Given the description of an element on the screen output the (x, y) to click on. 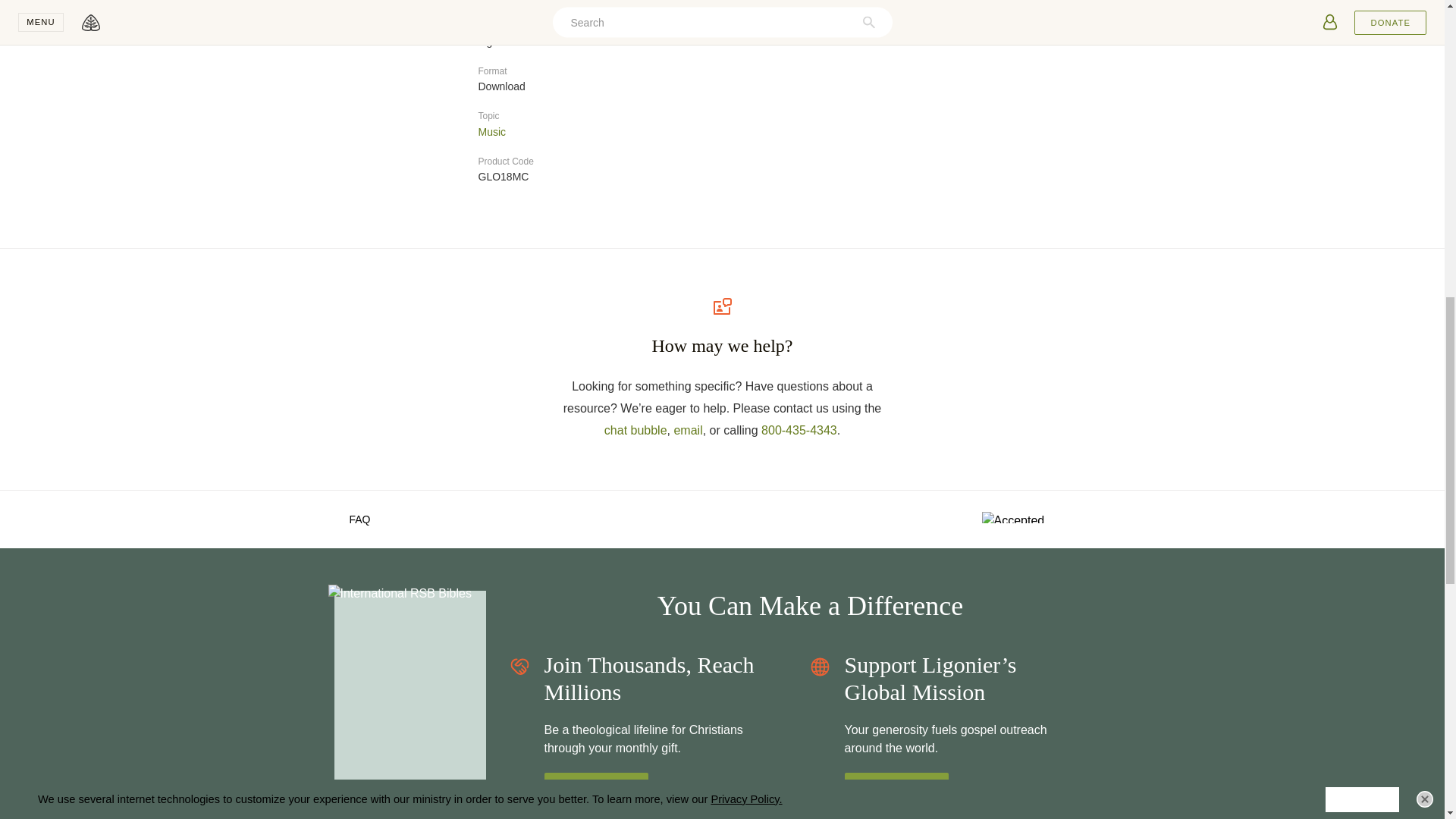
Give Monthly (595, 788)
